Given the description of an element on the screen output the (x, y) to click on. 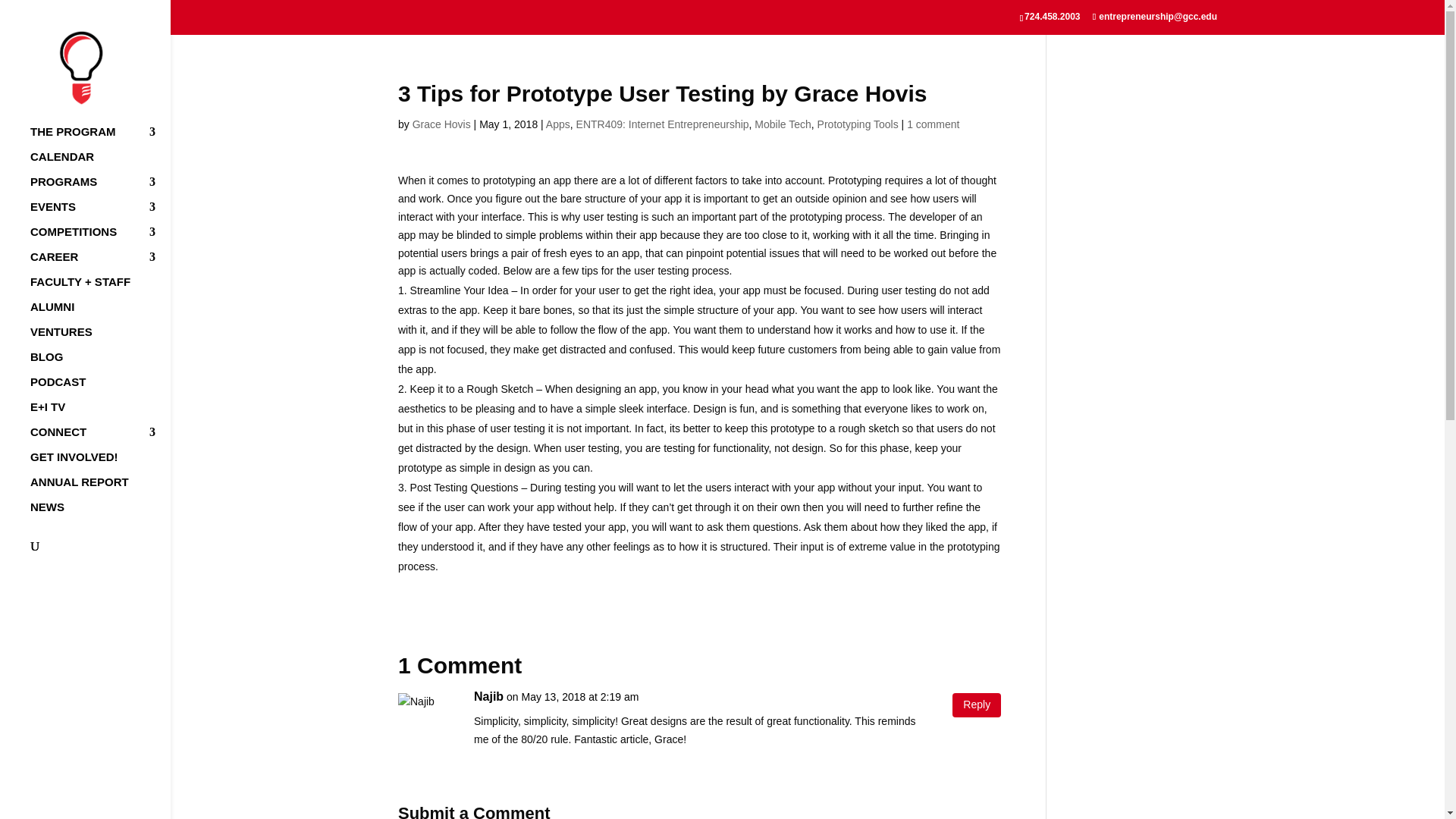
CALENDAR (100, 163)
EVENTS (100, 213)
CAREER (100, 263)
THE PROGRAM (100, 138)
Posts by Grace Hovis (441, 123)
COMPETITIONS (100, 238)
PROGRAMS (100, 188)
